Given the description of an element on the screen output the (x, y) to click on. 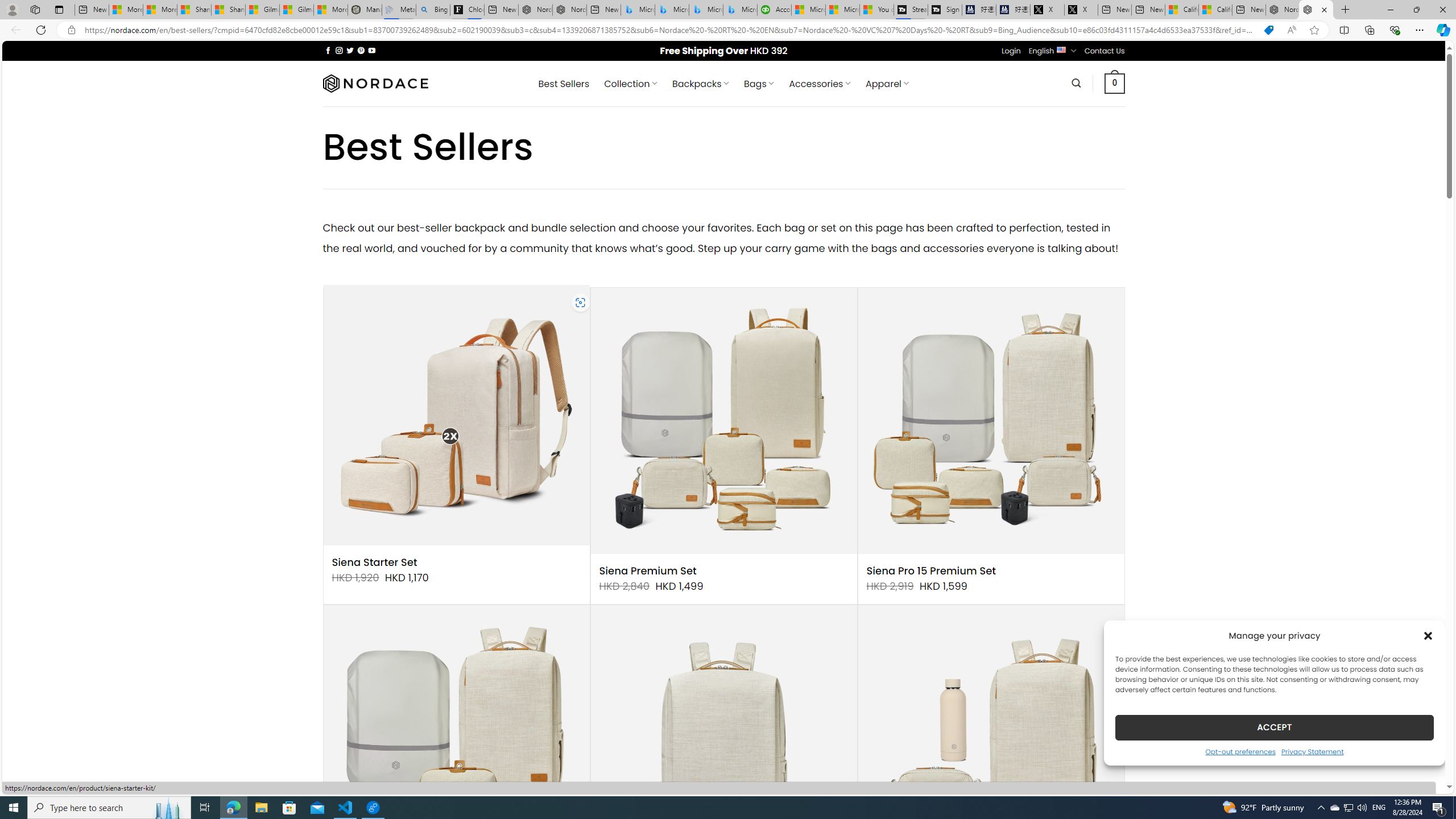
Follow on Instagram (338, 49)
  Best Sellers (563, 83)
Privacy Statement (1312, 750)
